Given the description of an element on the screen output the (x, y) to click on. 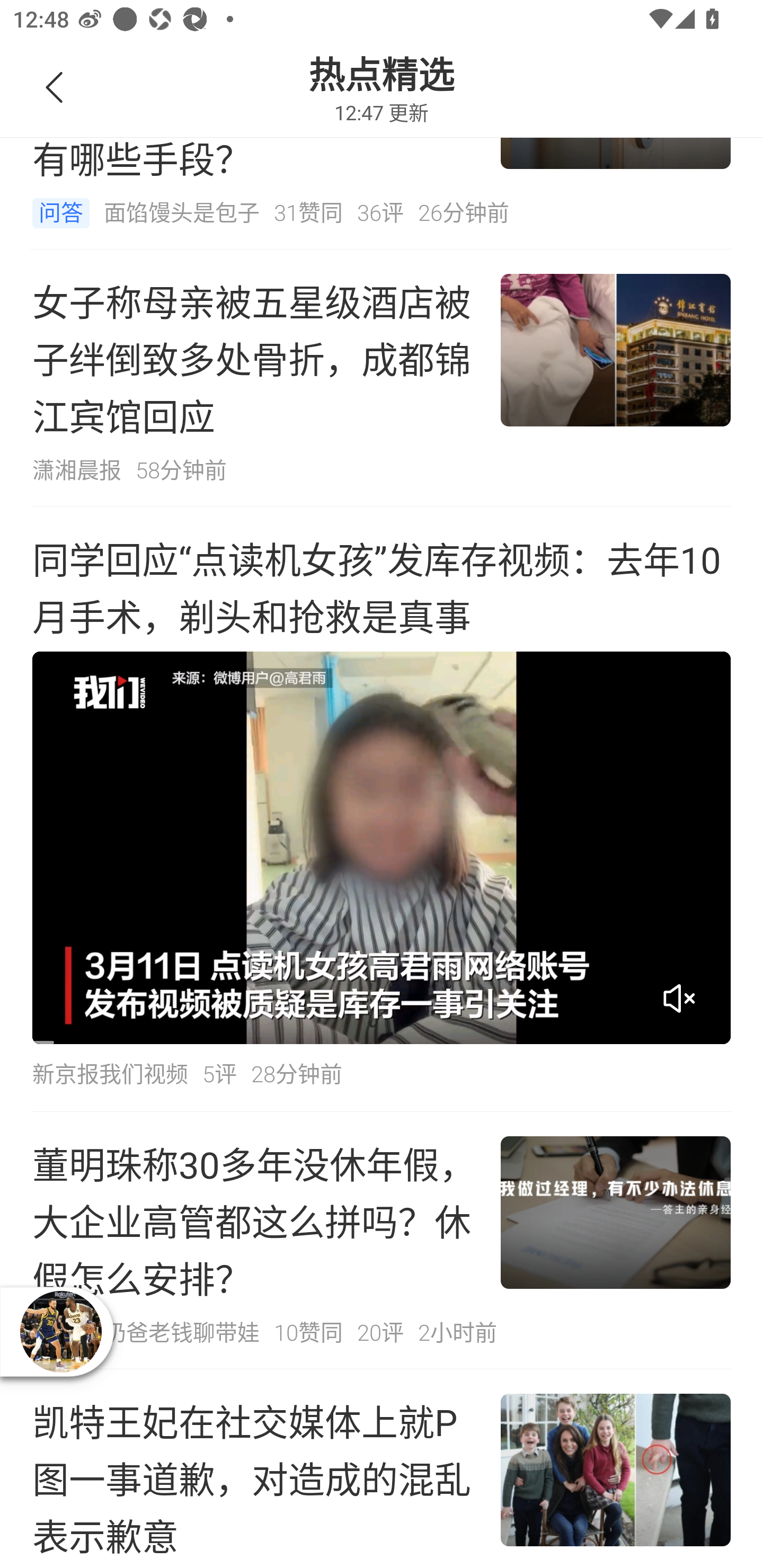
 返回 (54, 87)
女子称母亲被五星级酒店被子绊倒致多处骨折，成都锦江宾馆回应 潇湘晨报 58分钟前 (381, 377)
音量开关 (678, 997)
播放器 (60, 1331)
凯特王妃在社交媒体上就P图一事道歉，对造成的混乱表示歉意 (381, 1468)
